Given the description of an element on the screen output the (x, y) to click on. 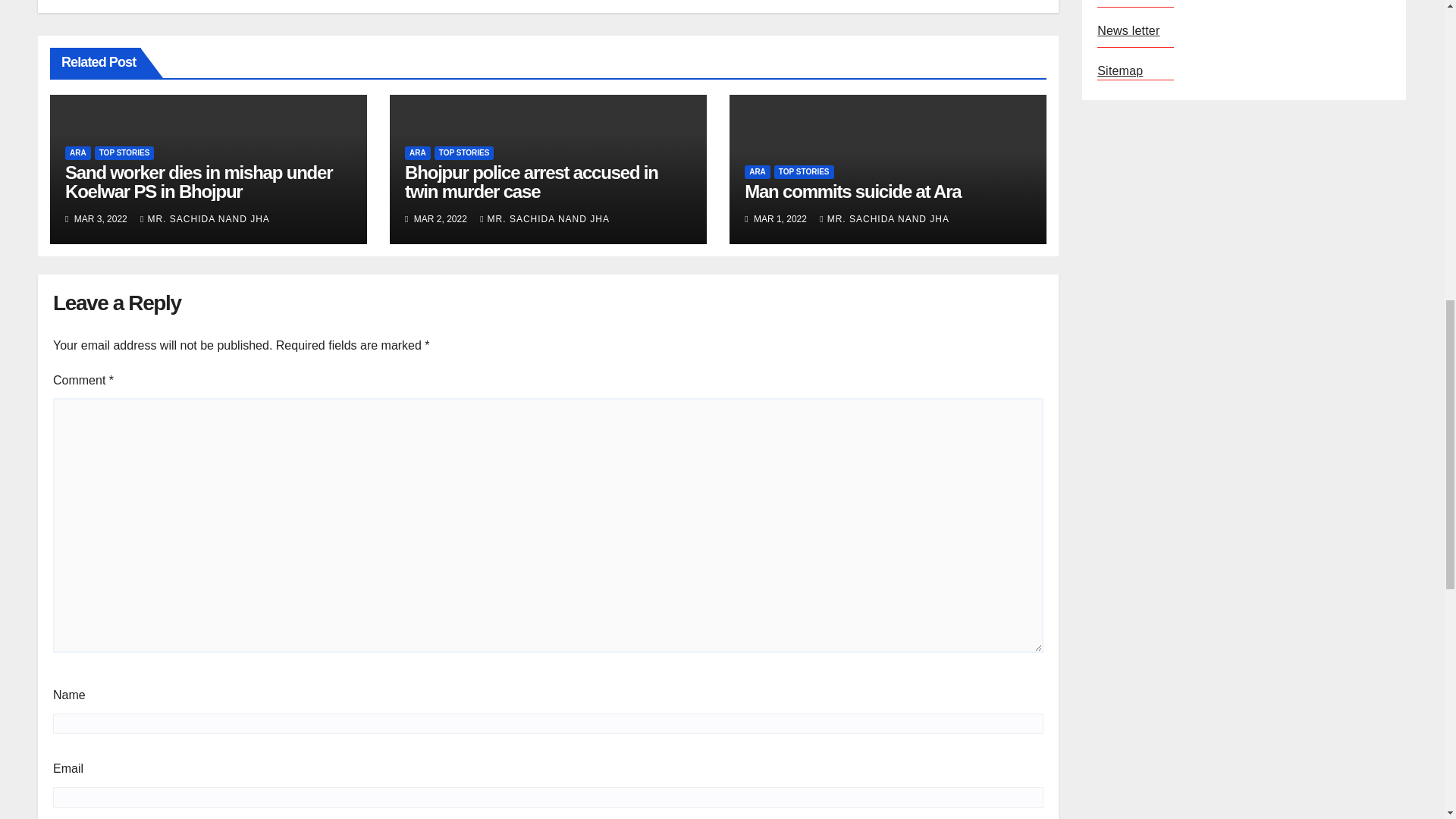
Sand worker dies in mishap under Koelwar PS in Bhojpur (198, 181)
MR. SACHIDA NAND JHA (204, 218)
ARA (77, 152)
TOP STORIES (124, 152)
